Given the description of an element on the screen output the (x, y) to click on. 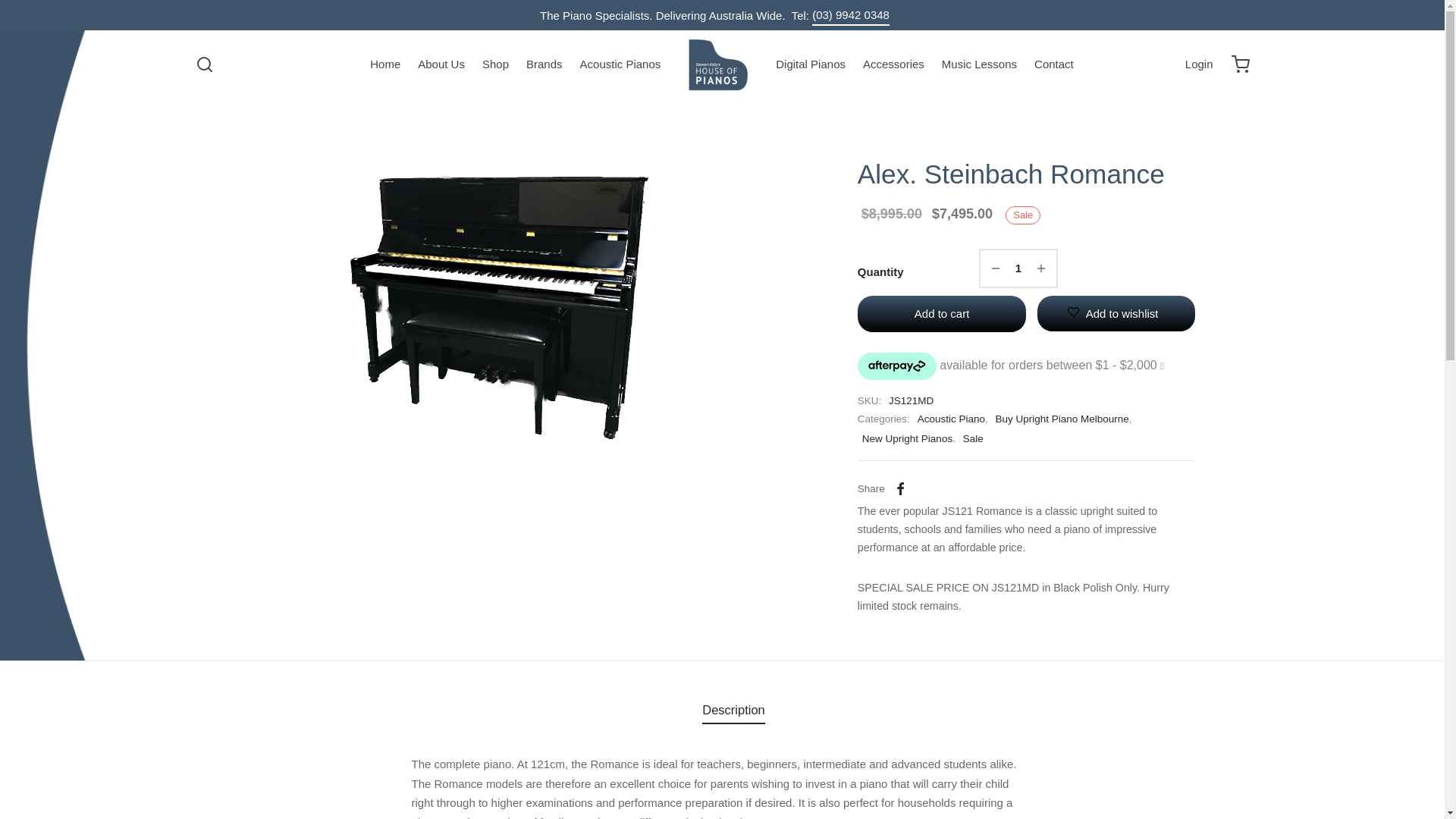
New Upright Pianos Element type: text (907, 431)
Search Element type: text (30, 18)
Cart Element type: hover (1240, 64)
Acoustic Pianos Element type: text (620, 64)
Shop Element type: text (495, 64)
Accessories Element type: text (893, 64)
About Us Element type: text (440, 64)
Add to wishlist Element type: text (1116, 306)
Login Element type: text (1199, 64)
Contact Element type: text (1053, 64)
Home Element type: text (385, 64)
Sale Element type: text (973, 431)
Digital Pianos Element type: text (810, 64)
Add to cart Element type: text (941, 306)
Acoustic Piano Element type: text (951, 412)
Casio-Privia-PXS-1100-Digital-Piano_2 Element type: hover (497, 306)
Qty Element type: hover (1018, 268)
Brands Element type: text (544, 64)
Description Element type: text (733, 701)
(03) 9942 0348 Element type: text (850, 15)
Music Lessons Element type: text (978, 64)
Buy Upright Piano Melbourne Element type: text (1061, 412)
